Given the description of an element on the screen output the (x, y) to click on. 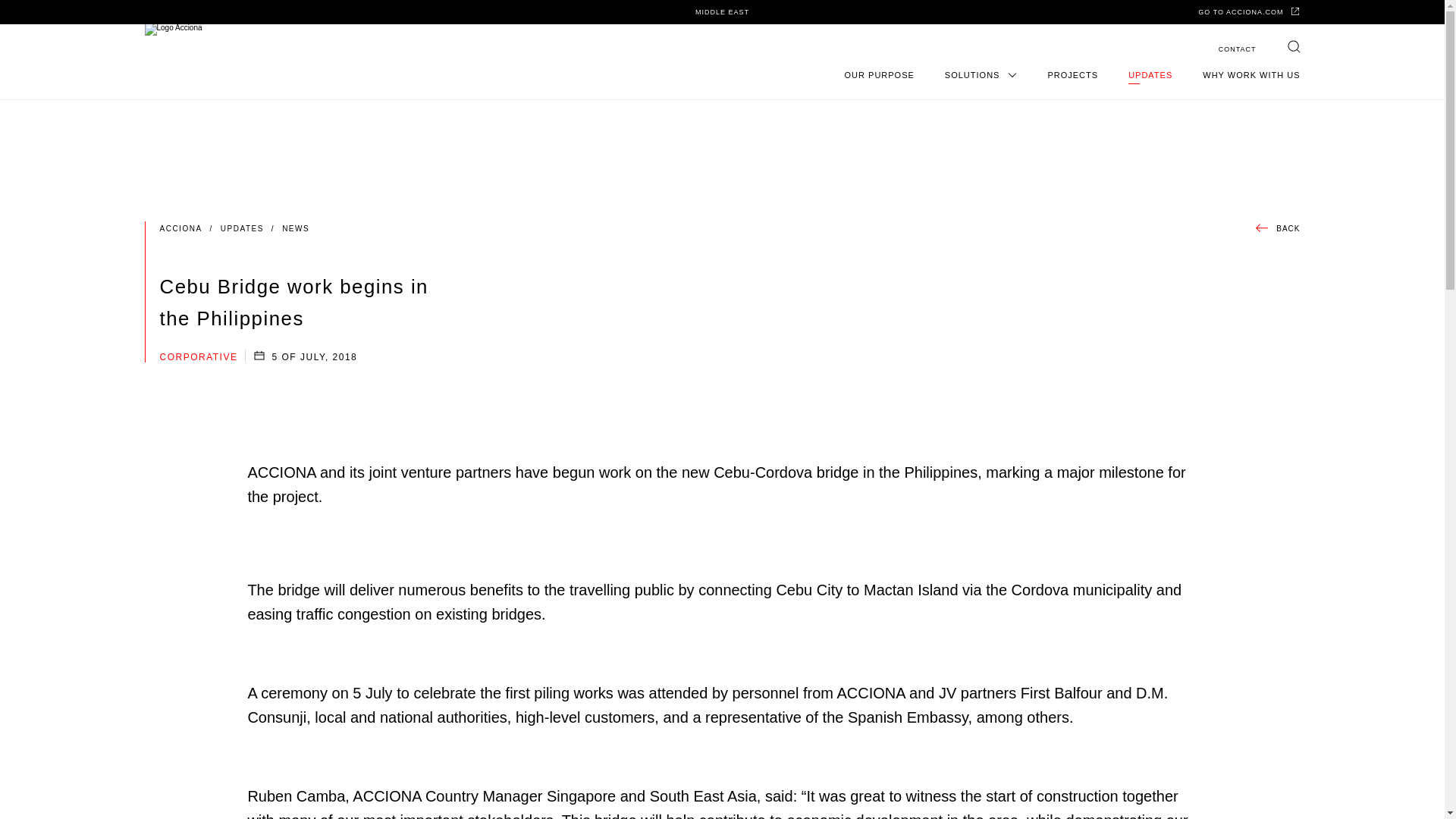
NEWS (295, 228)
OUR PURPOSE (879, 74)
SOLUTIONS (980, 74)
UPDATES (1150, 74)
Corporative (197, 357)
UPDATES (251, 228)
ACCIONA (188, 228)
BACK (1277, 228)
WHY WORK WITH US (1251, 74)
CONTACT (1237, 49)
